Given the description of an element on the screen output the (x, y) to click on. 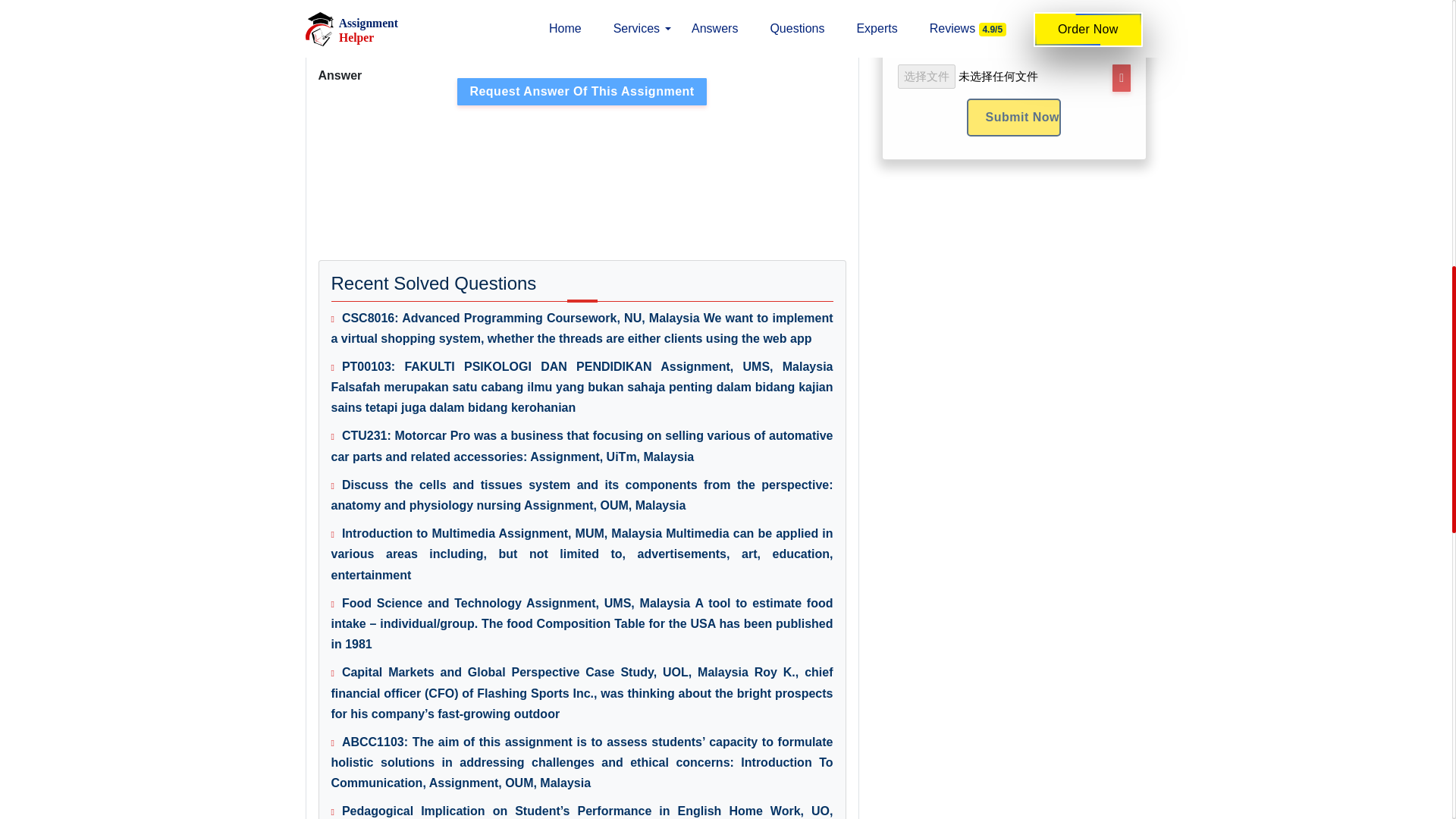
Request Answer Of This Assignment (581, 91)
Submit Now (1013, 117)
